Given the description of an element on the screen output the (x, y) to click on. 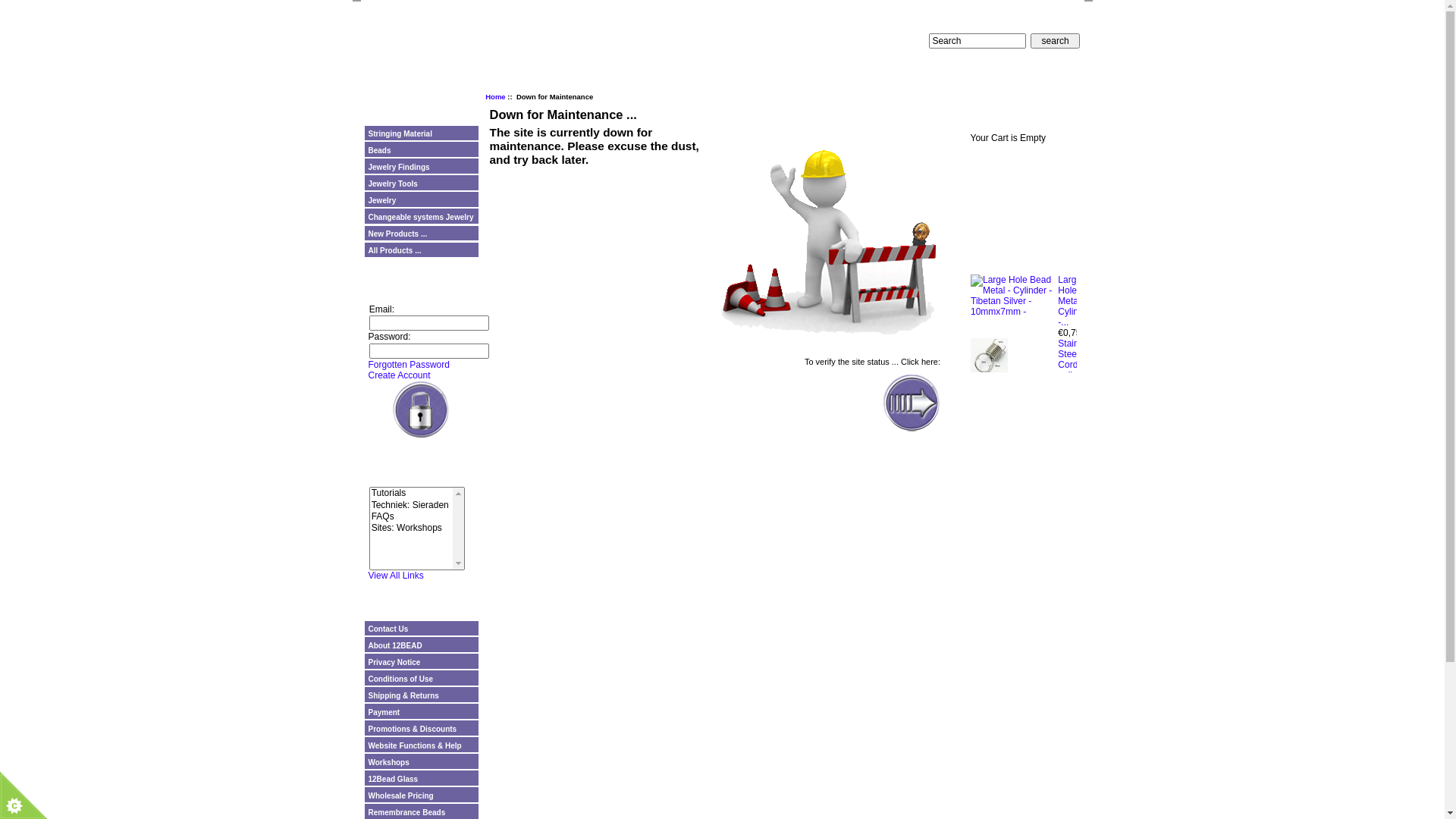
About 12BEAD Element type: text (422, 645)
Changeable systems Jewelry Element type: text (420, 216)
about this tool Element type: text (173, 781)
Contact Us Element type: text (422, 628)
Forgotten Password Element type: text (408, 364)
Jewelry Tools Element type: text (420, 183)
Remembrance Beads Element type: text (422, 812)
Bead Cap - Round - Cup - Silver -... Element type: text (1077, 485)
 Wood - Round - Light coffee - 24-25mm  Element type: hover (1013, 518)
LINKS Element type: hover (570, 52)
Close Element type: text (192, 690)
 Synthetic Rubber Cord, Round, Hollow, Fuchsia, 2.0x0.5mm  Element type: hover (1013, 682)
ENGLISH Element type: hover (914, 40)
Wood - Round - Light coffee -... Element type: text (1076, 538)
Conditions of Use Element type: text (422, 678)
 Synthetic Rubber Cord, Hollow, 2x0.5mm, White  Element type: hover (1013, 624)
Website Functions & Help Element type: text (422, 745)
 Sign In  Element type: hover (420, 409)
read More Element type: text (83, 800)
Large Hole Bead Metal - Cylinder -... Element type: text (1078, 322)
 Bead Cap - Round - Cup - Silver - 12mmx3,5mm  Element type: hover (1013, 471)
Create Account Element type: text (399, 375)
Home Element type: text (495, 96)
Privacy Notice Element type: text (422, 661)
Beads Element type: text (420, 150)
 Synthetic Rubber Cord, Round, Hollow, Sky Blue, 2.0x0.5mm  Element type: hover (989, 731)
Payment Element type: text (422, 712)
New Products ... Element type: text (420, 233)
All Products ... Element type: text (420, 250)
search Element type: text (1054, 40)
Shipping & Returns Element type: text (422, 695)
12Bead Glass Element type: text (422, 778)
NEDERLANDS Element type: hover (890, 40)
Wholesale Pricing Element type: text (422, 795)
Promotions & Discounts Element type: text (422, 728)
Wood - Round - Natural color -... Element type: text (1073, 433)
 Bead Cap - Flower - Cup - Silver - 11,5mmx2,5mm  Element type: hover (989, 777)
Synthetic Rubber Cord, Round,... Element type: text (1076, 696)
Stainless Steel Cord Tips - zilver... Element type: text (1076, 380)
 Continue  Element type: hover (911, 402)
Synthetic Rubber Cord, Hollow,... Element type: text (1076, 643)
Jewelry Findings Element type: text (420, 166)
ACCOUNT Element type: hover (521, 52)
About Cookie Control Element type: text (68, 689)
12BEAD Element type: hover (749, 17)
View All Links Element type: text (395, 575)
Stringing Material Element type: text (420, 133)
 Stainless Steel Cord Tips - zilver color - 10x4mm  Element type: hover (988, 363)
Cookies are on Element type: text (129, 760)
Waxcord, 2mm round, black Element type: text (1076, 591)
 Wood - Round - Natural color - 24-25mm  Element type: hover (1013, 413)
12BEAD Element type: hover (407, 46)
Workshops Element type: text (422, 762)
 Waxcord, 2mm round, black  Element type: hover (1013, 566)
Synthetic Rubber Cord, Round,... Element type: text (1076, 749)
Jewelry Element type: text (420, 200)
INLOGGEN Element type: hover (471, 52)
